Given the description of an element on the screen output the (x, y) to click on. 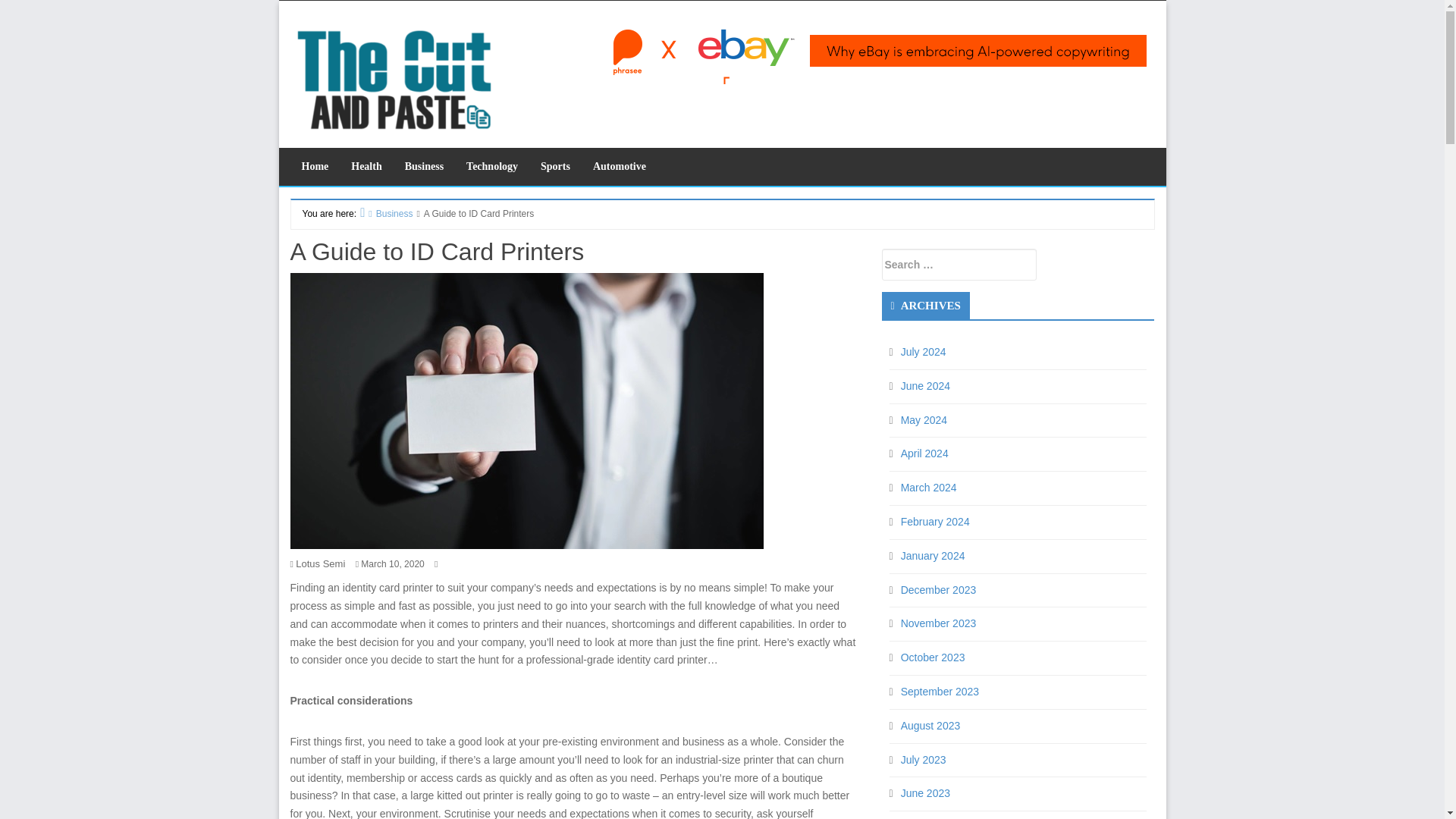
November 2023 (938, 623)
Health (366, 166)
Lotus Semi (320, 563)
Health (366, 166)
Home (314, 166)
Home (314, 166)
Technology (491, 166)
July 2023 (923, 759)
March 2024 (928, 487)
Automotive (619, 166)
Sports (554, 166)
Tuesday, March 10, 2020, 8:39 am (392, 563)
October 2023 (933, 657)
Sports (554, 166)
Search (147, 12)
